Given the description of an element on the screen output the (x, y) to click on. 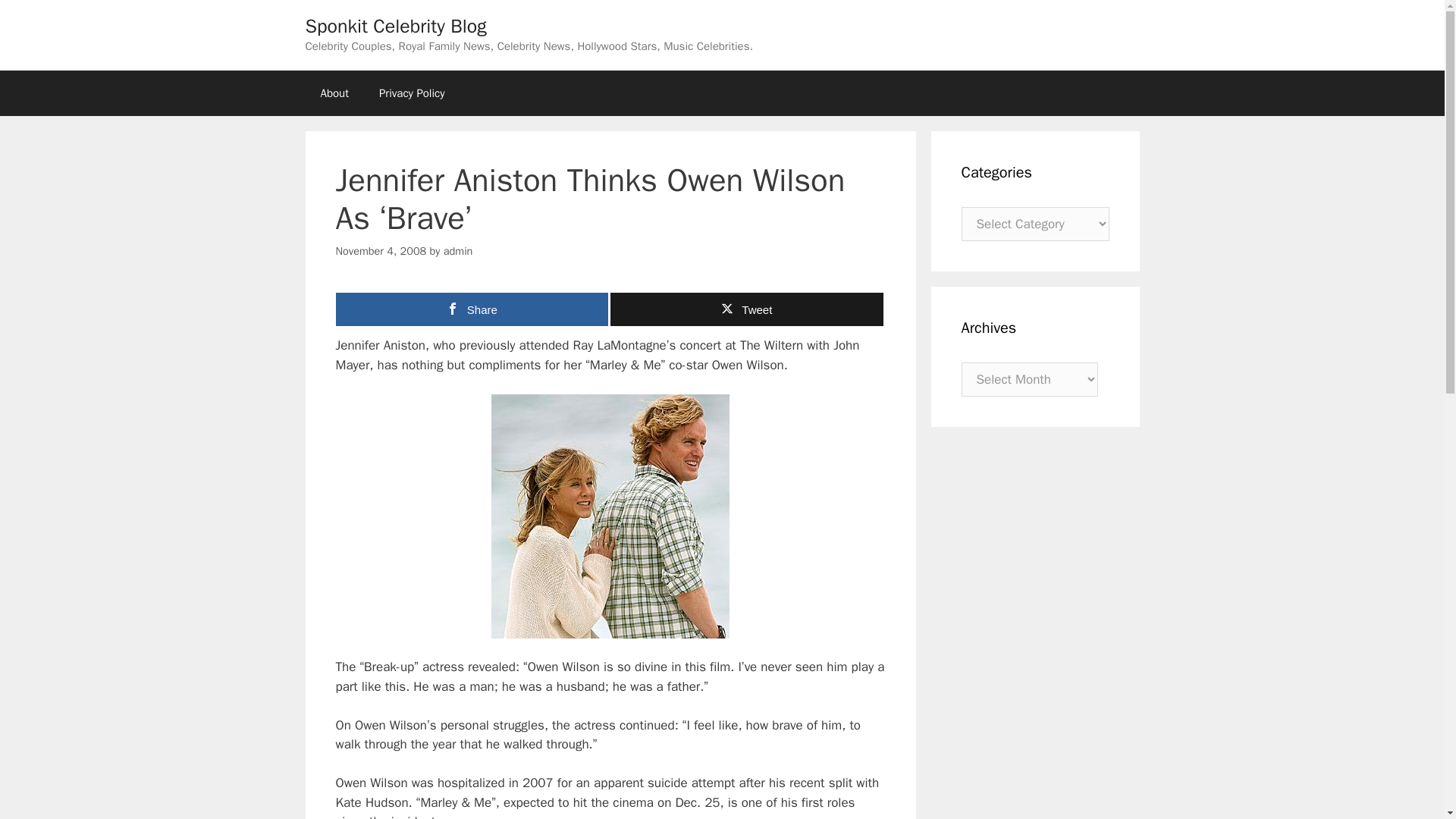
Tweet (746, 308)
Jennifer Aniston Thinks Owen Wilson As 'Brave' (610, 515)
Sponkit Celebrity Blog (395, 25)
Privacy Policy (412, 92)
Share (471, 308)
About (333, 92)
admin (458, 250)
View all posts by admin (458, 250)
